Given the description of an element on the screen output the (x, y) to click on. 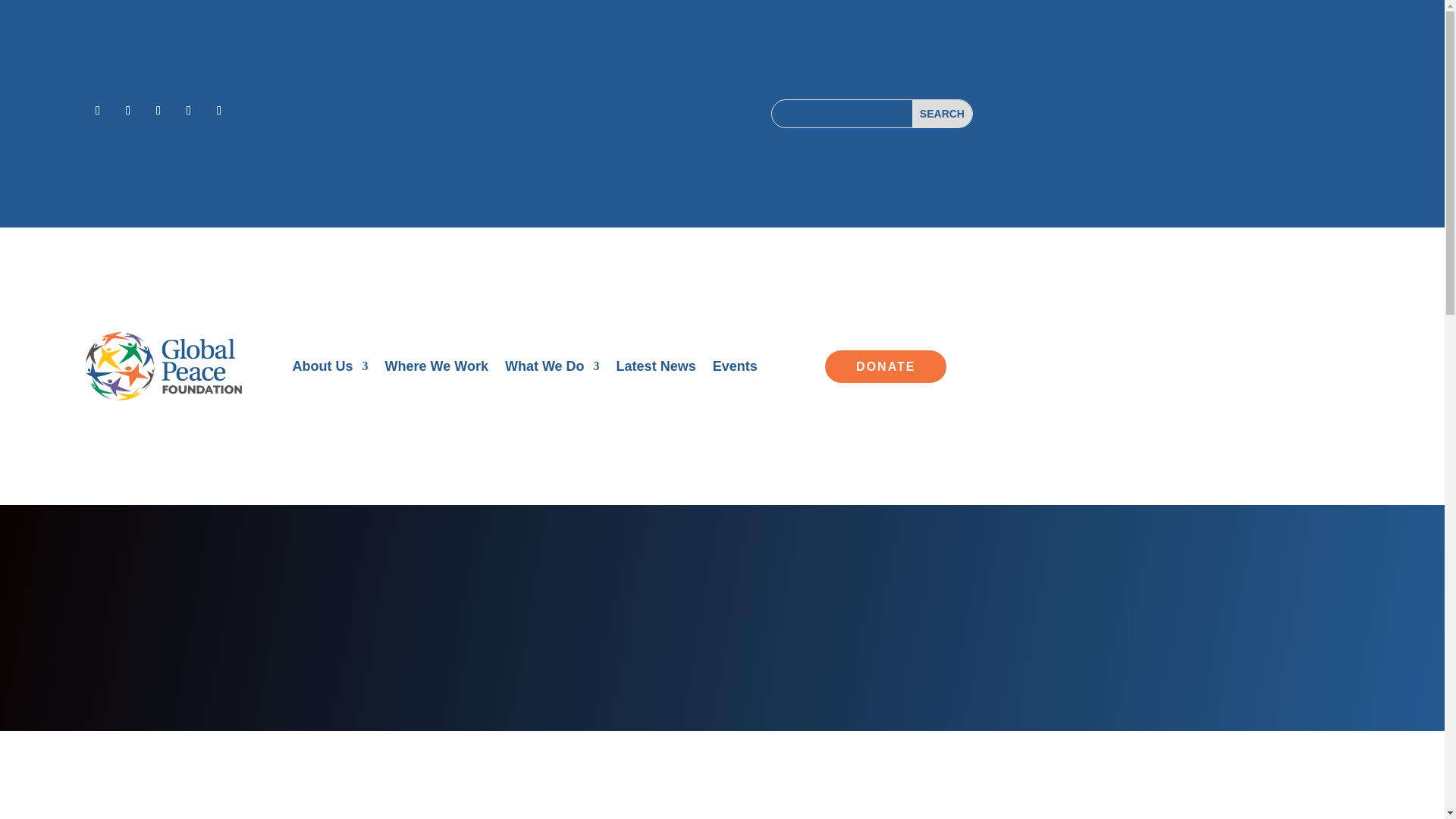
Follow on Youtube (218, 110)
Search (942, 113)
Search (942, 113)
What We Do (552, 369)
Global Peace Foundation Logo (163, 366)
Follow on LinkedIn (188, 110)
Events (735, 369)
Follow on Facebook (97, 110)
Where We Work (436, 369)
DONATE (885, 366)
Search (942, 113)
Follow on Instagram (158, 110)
Latest News (655, 369)
About Us (330, 369)
Follow on X (127, 110)
